Given the description of an element on the screen output the (x, y) to click on. 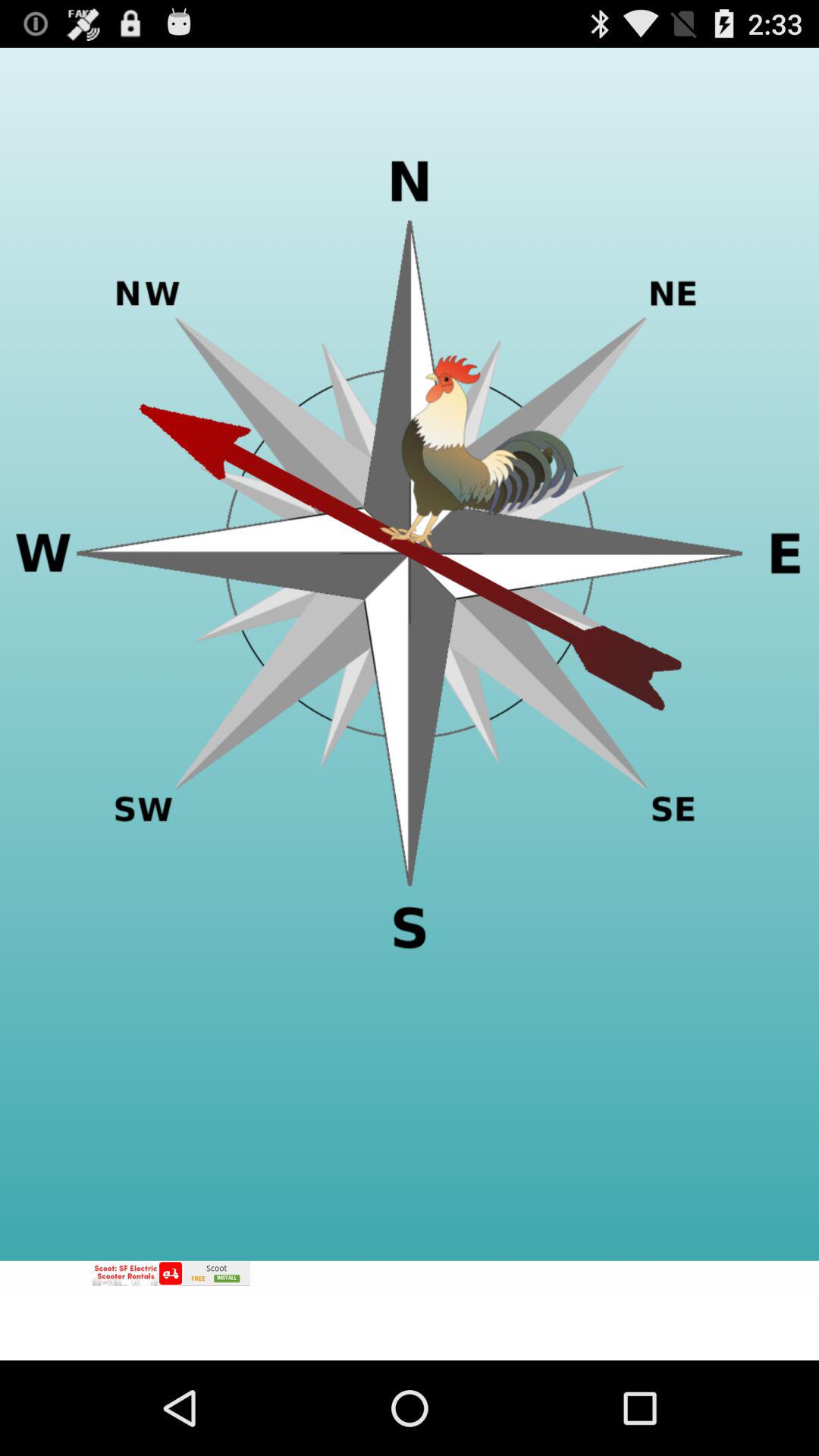
advertisement banner would take off site (409, 1310)
